Given the description of an element on the screen output the (x, y) to click on. 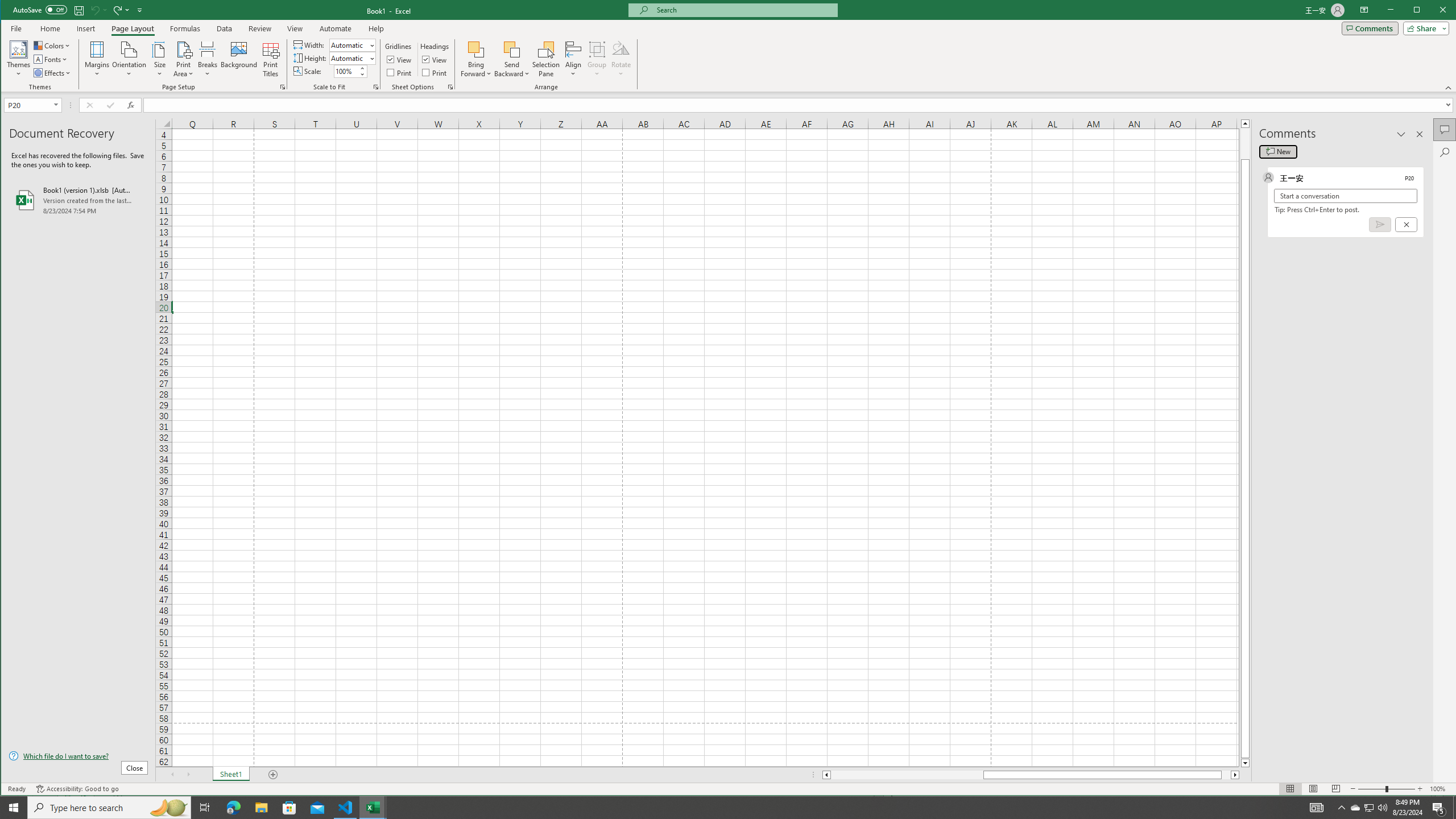
Background... (239, 59)
User Promoted Notification Area (1368, 807)
Bring Forward (476, 59)
Effects (53, 72)
Type here to search (108, 807)
